Given the description of an element on the screen output the (x, y) to click on. 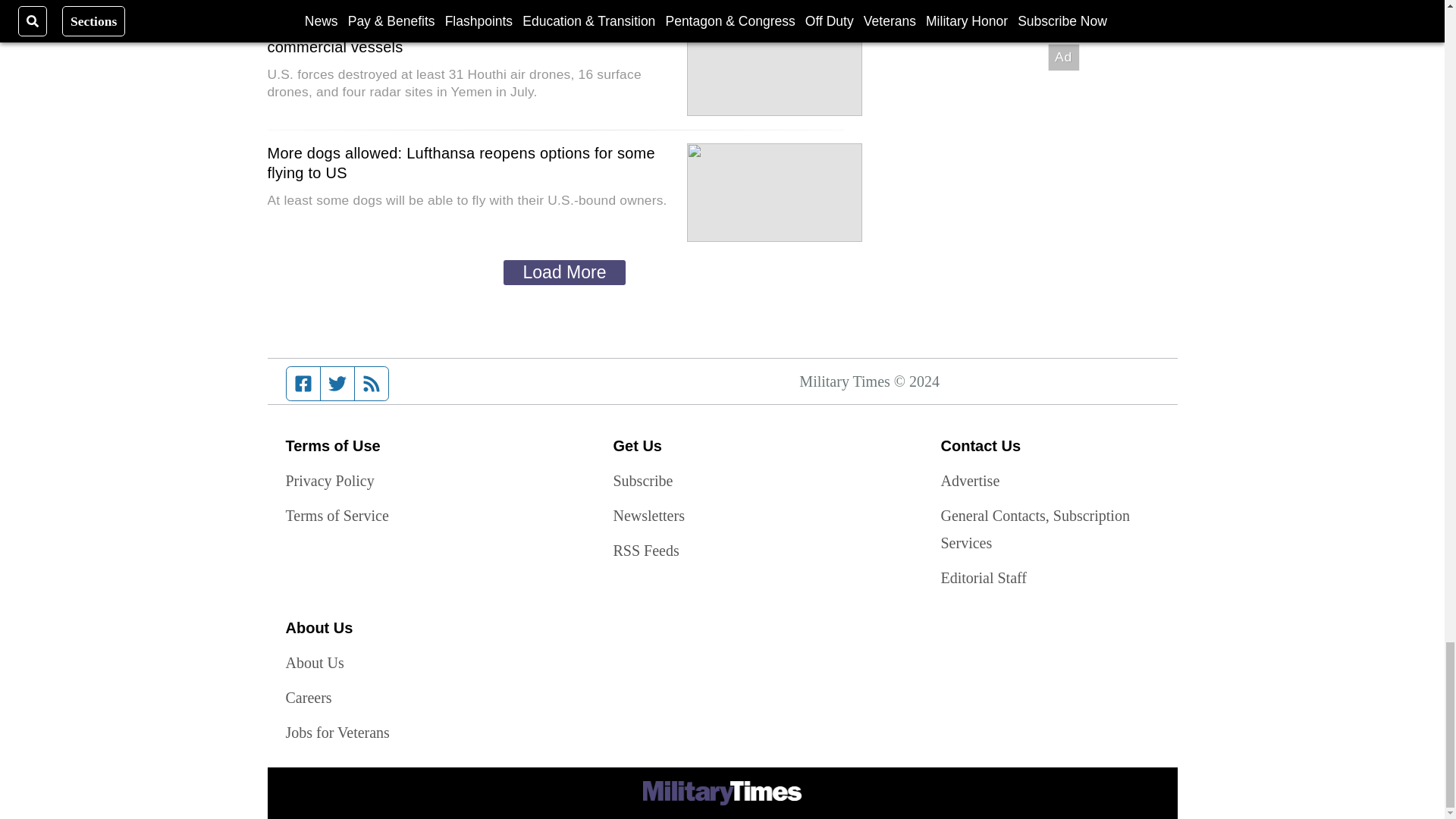
Twitter feed (336, 383)
Facebook page (303, 383)
RSS feed (371, 383)
